Given the description of an element on the screen output the (x, y) to click on. 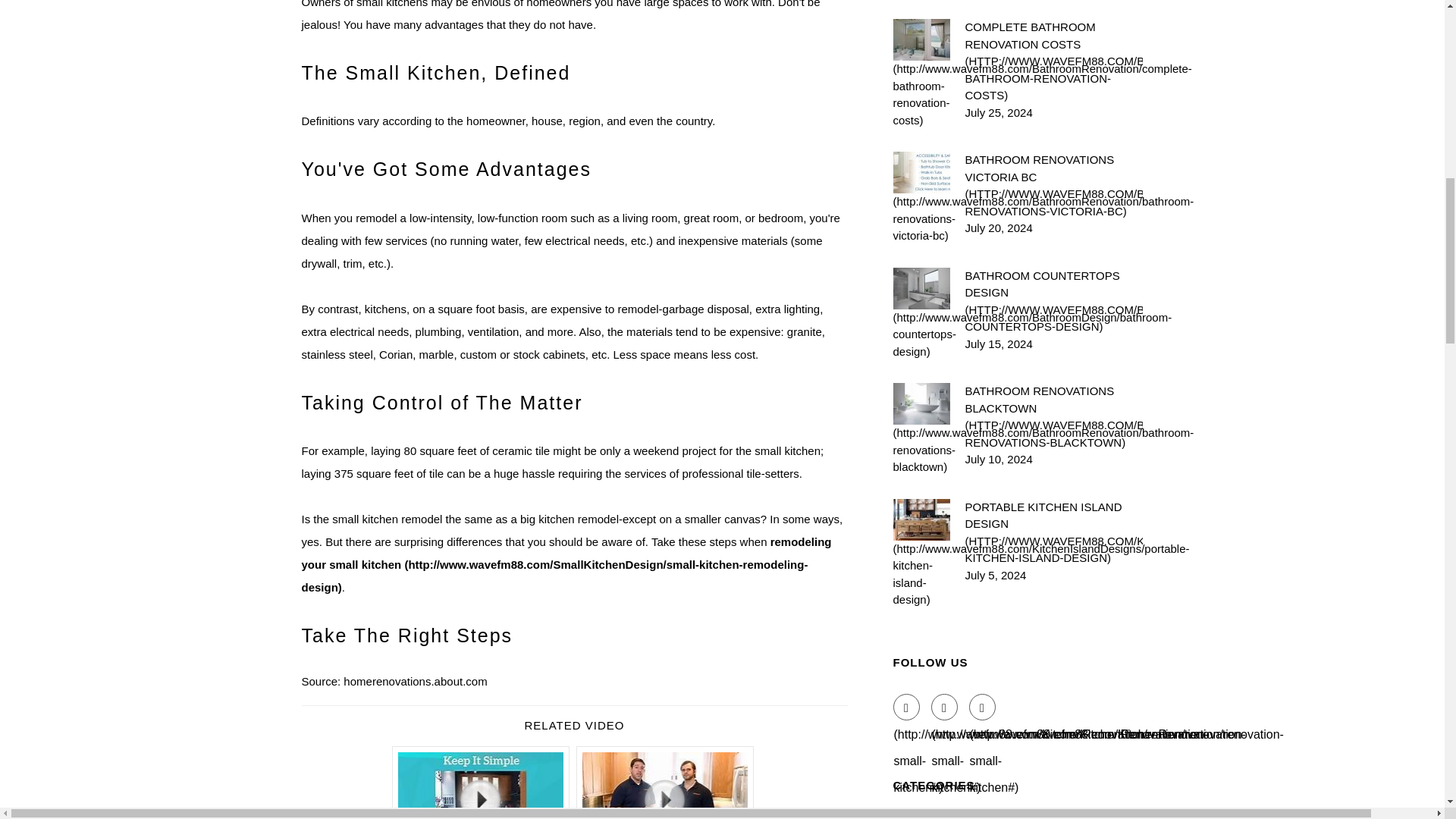
Twitter (944, 706)
View this video from YouTube (665, 782)
remodeling your small kitchen (566, 564)
View this video from Vimeo (480, 782)
Google Plus (982, 706)
Facebook (906, 706)
Small kitchen Remodeling Design (566, 564)
